Given the description of an element on the screen output the (x, y) to click on. 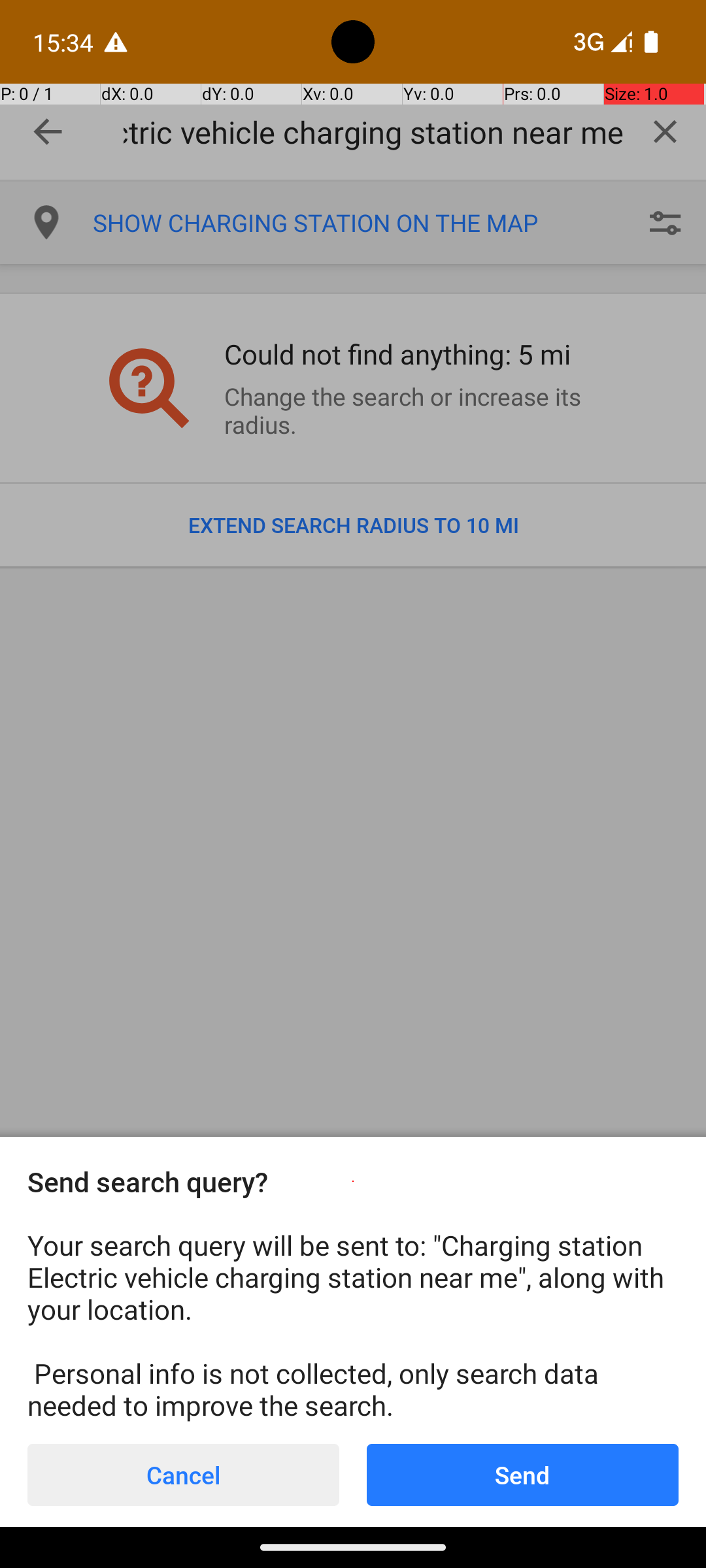
Send search query? Element type: android.widget.TextView (353, 1181)
Your search query will be sent to: "Charging station Electric vehicle charging station near me", along with your location.

 Personal info is not collected, only search data needed to improve the search. Element type: android.widget.TextView (353, 1324)
Send Element type: android.widget.TextView (521, 1474)
